Given the description of an element on the screen output the (x, y) to click on. 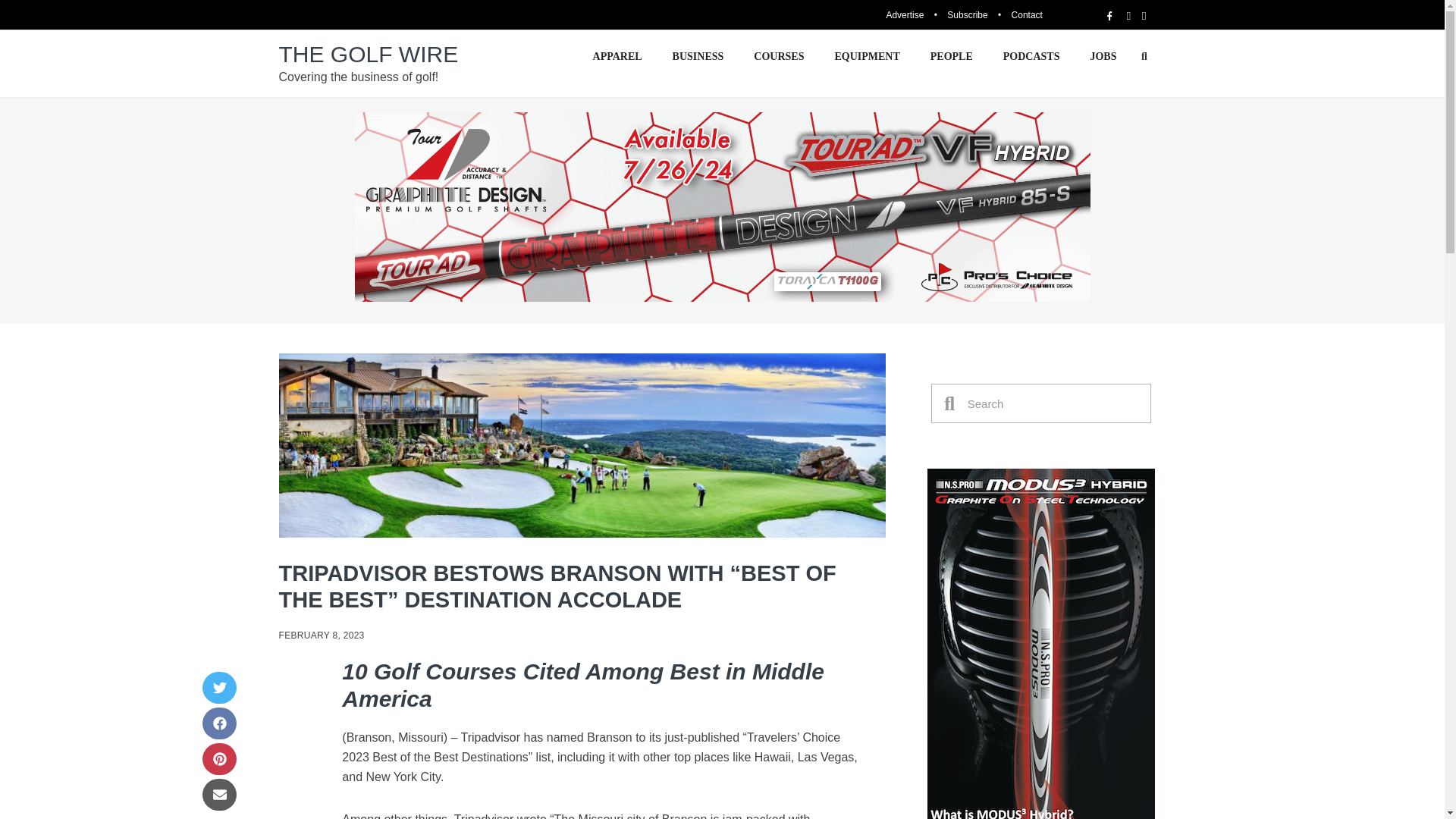
Facebook (218, 723)
Twitter (218, 687)
THE GOLF WIRE (368, 53)
Subscribe (967, 14)
Contact (1026, 14)
PODCASTS (1031, 56)
PEOPLE (951, 56)
Email (218, 794)
JOBS (1102, 56)
COURSES (778, 56)
Advertise (904, 14)
EQUIPMENT (866, 56)
Pinterest (218, 758)
BUSINESS (698, 56)
